Given the description of an element on the screen output the (x, y) to click on. 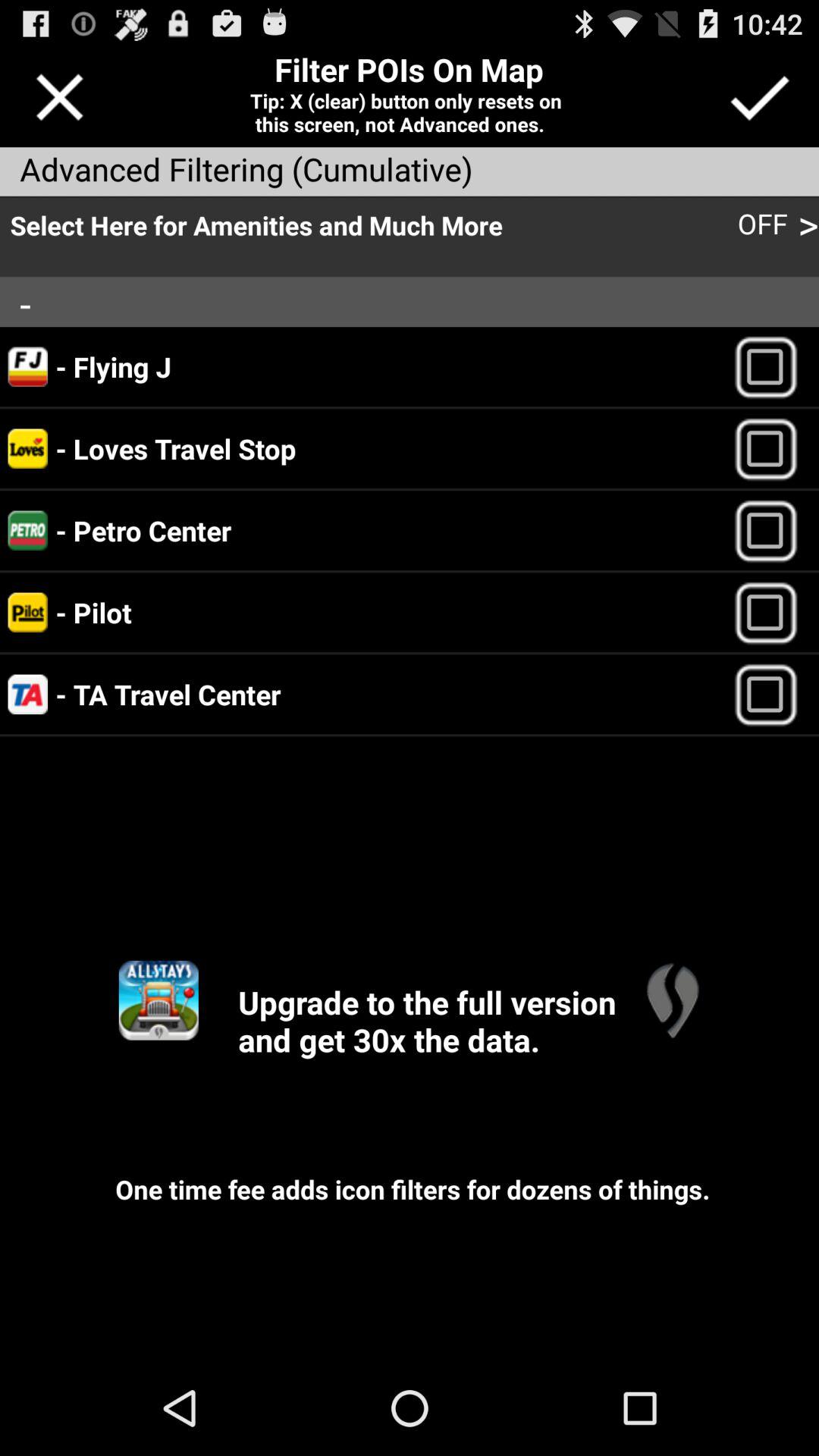
select location (772, 366)
